Given the description of an element on the screen output the (x, y) to click on. 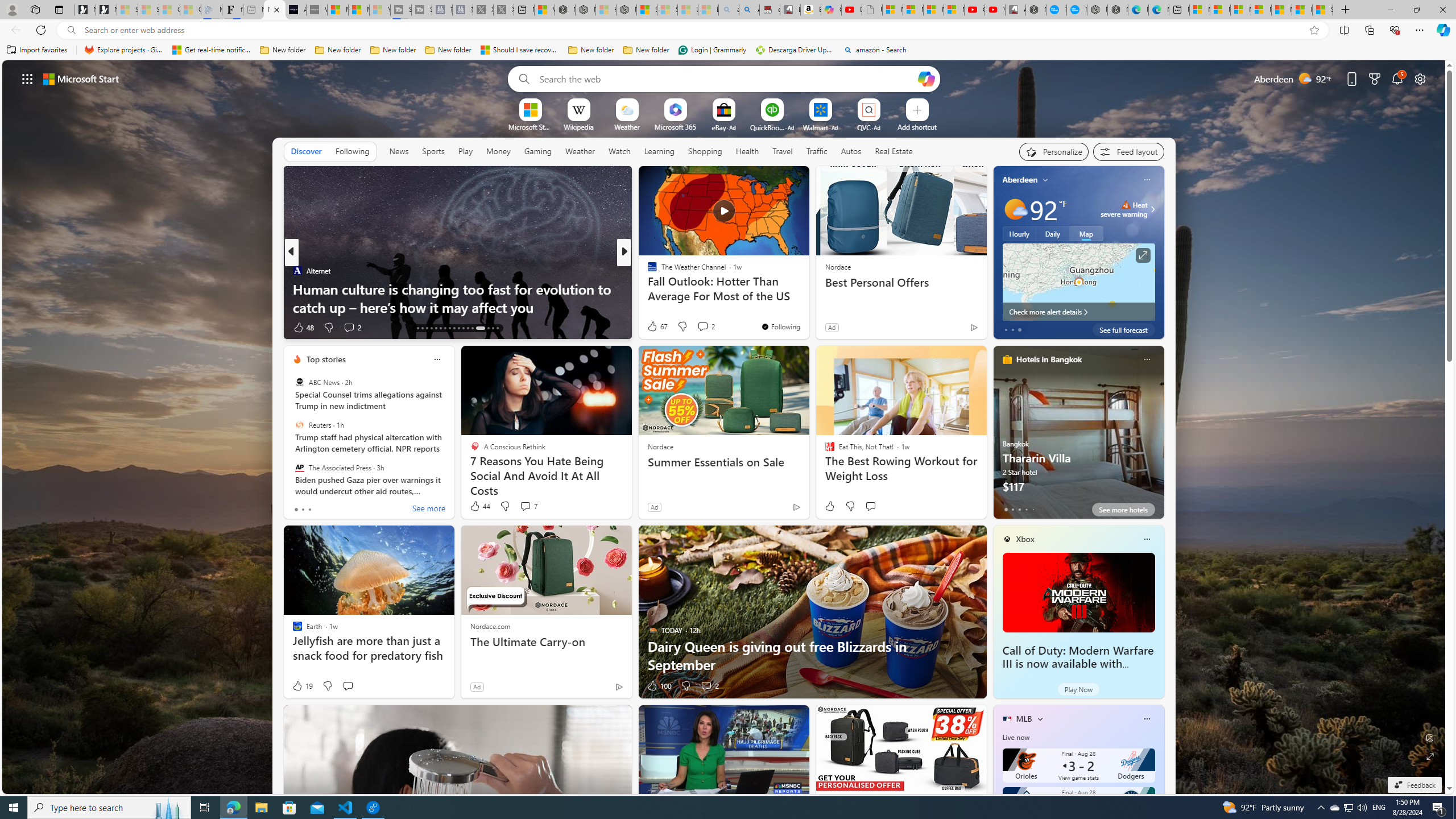
Wikipedia (578, 126)
AutomationID: tab-41 (488, 328)
View comments 124 Comment (6, 327)
Click to see more information (1142, 255)
The Ultimate Carry-on (546, 641)
AutomationID: tab-21 (435, 328)
Check more alert details (1077, 311)
I Gained 20 Pounds of Muscle in 30 Days! | Watch (1302, 9)
Minimize (1390, 9)
Learning (659, 151)
Mostly sunny (1014, 208)
AutomationID: waffle (27, 78)
